Given the description of an element on the screen output the (x, y) to click on. 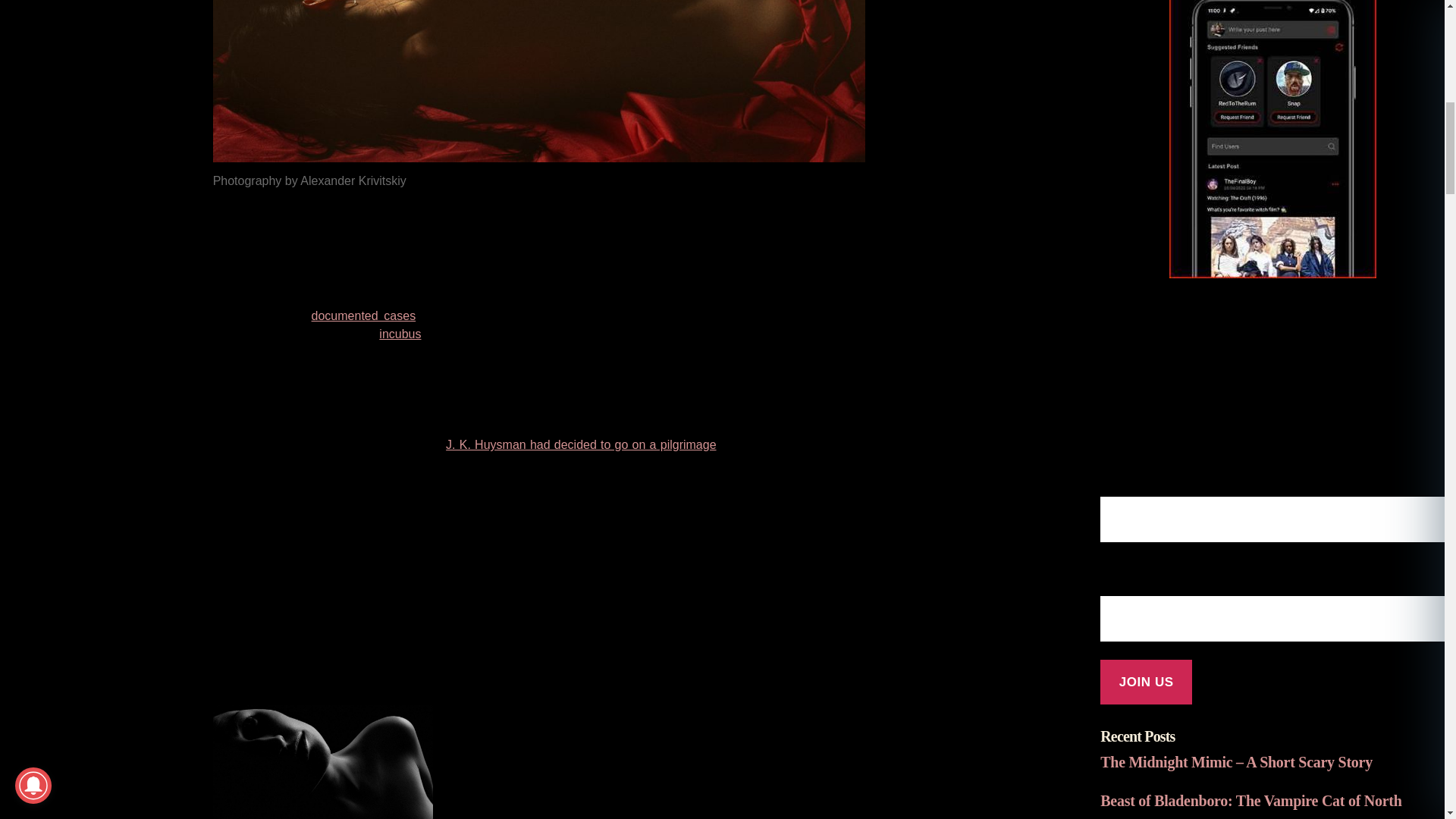
Join Us (1146, 682)
